Given the description of an element on the screen output the (x, y) to click on. 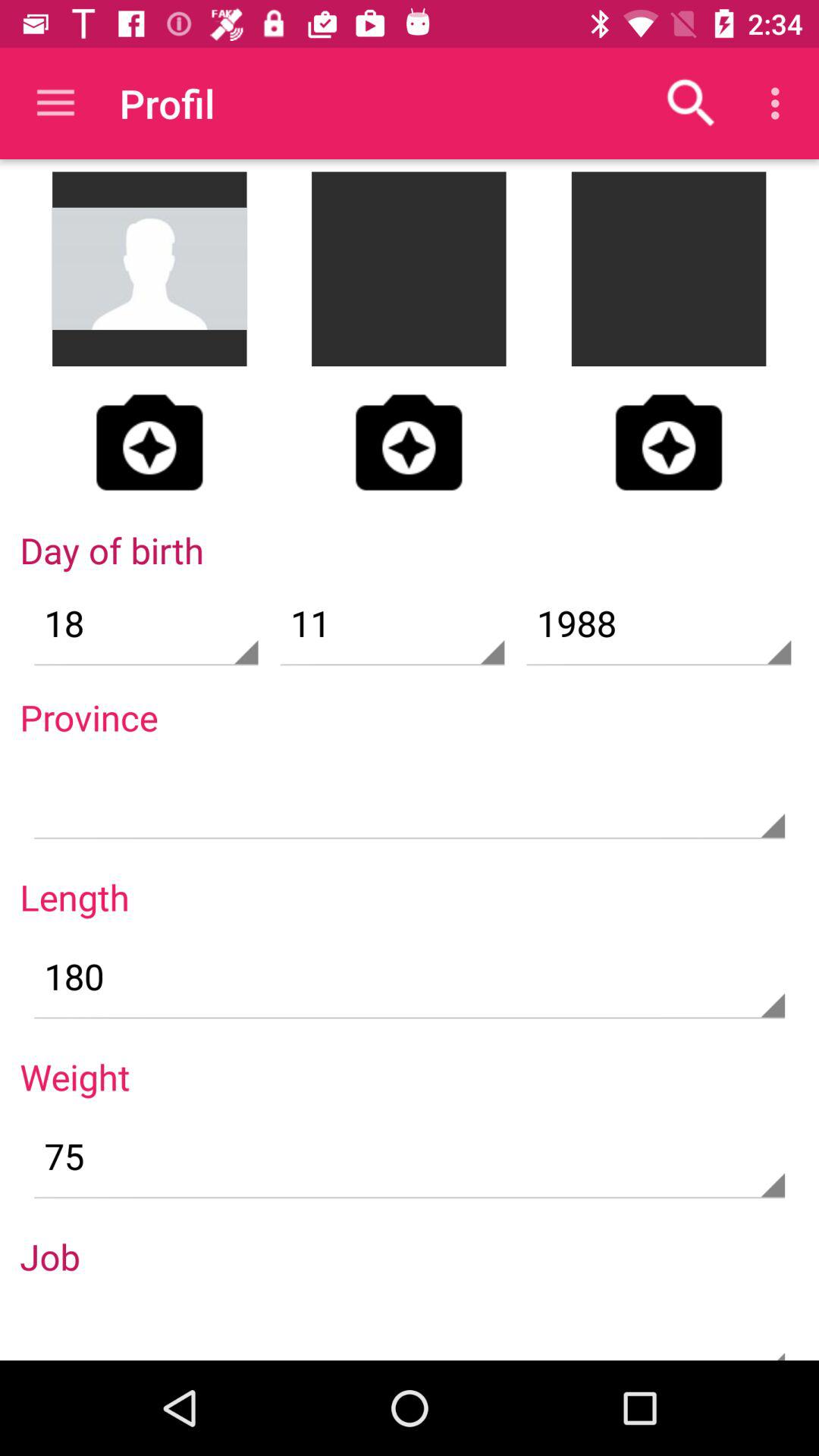
add photo (149, 442)
